Given the description of an element on the screen output the (x, y) to click on. 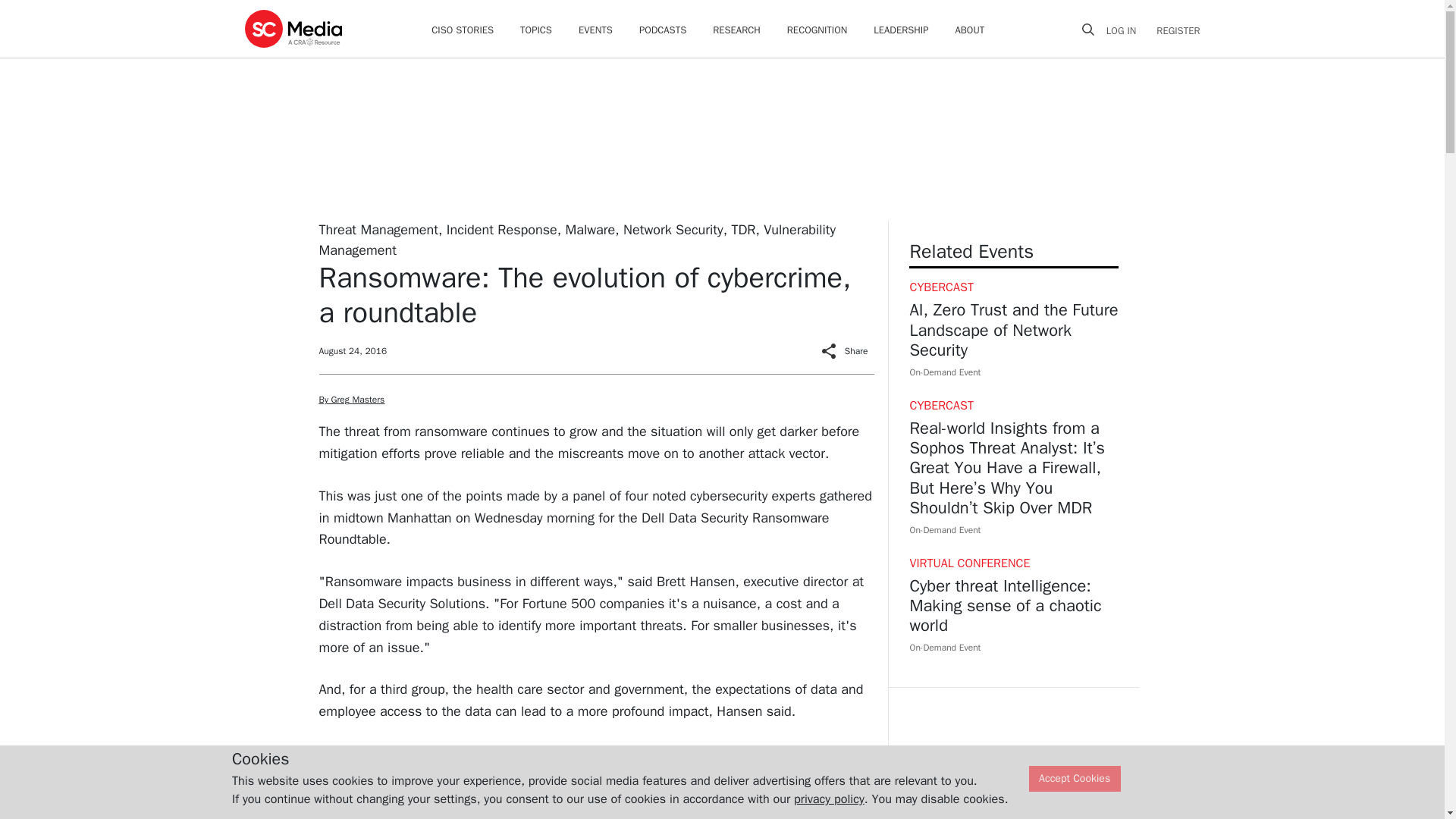
SC Media (292, 27)
TOPICS (535, 30)
TDR (742, 229)
RESEARCH (736, 30)
Vulnerability Management (576, 239)
REGISTER (1173, 30)
Network Security (673, 229)
Incident Response (501, 229)
CISO STORIES (461, 30)
EVENTS (595, 30)
Malware (590, 229)
LOG IN (1126, 30)
By Greg Masters (351, 399)
RECOGNITION (817, 30)
PODCASTS (662, 30)
